Given the description of an element on the screen output the (x, y) to click on. 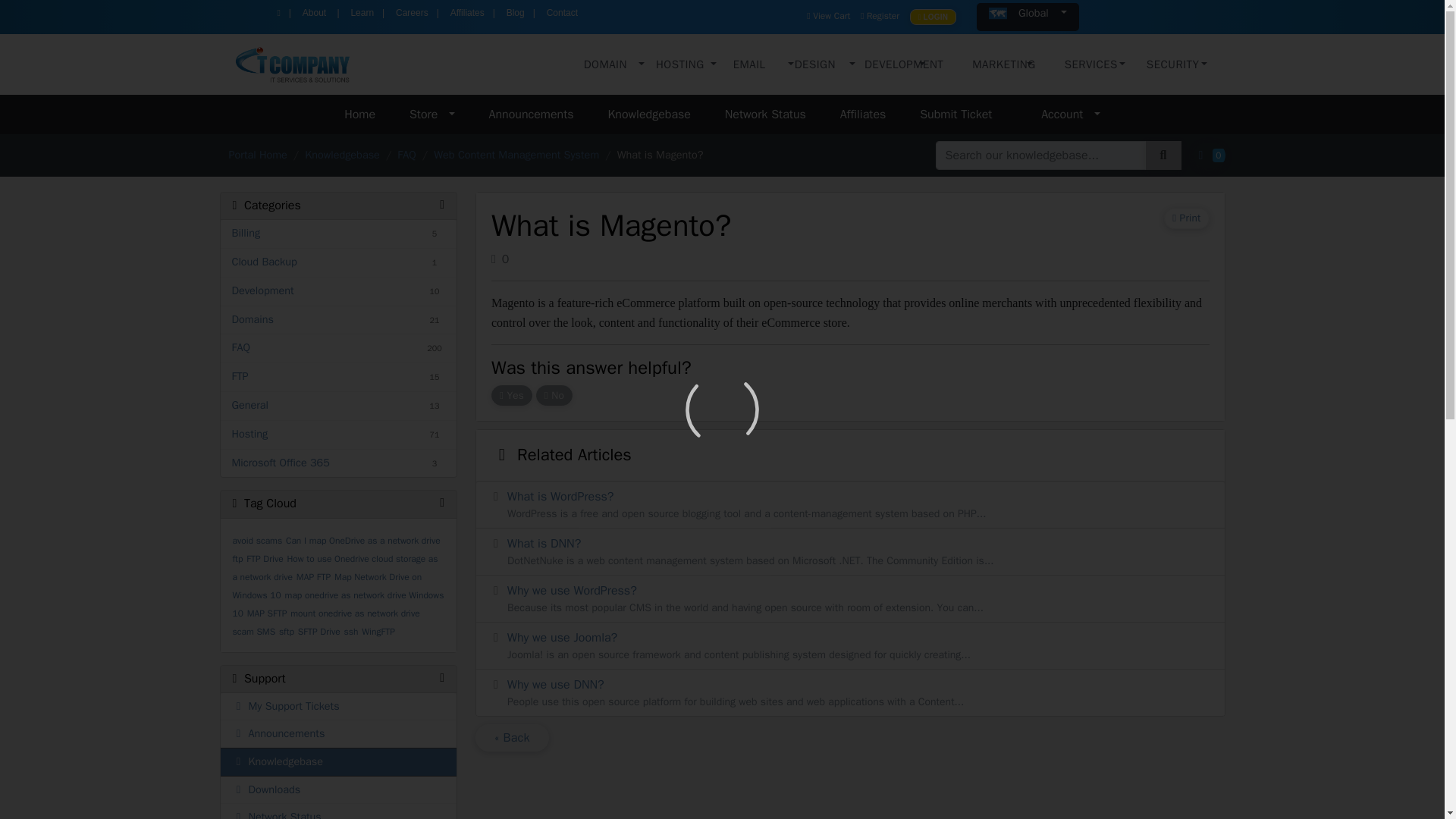
Register (879, 15)
Careers (413, 14)
Blog (517, 14)
Global (1027, 17)
About (317, 14)
LOGIN (933, 17)
Careers (413, 14)
Blog (517, 14)
Affiliates (468, 14)
Learn (363, 14)
